Given the description of an element on the screen output the (x, y) to click on. 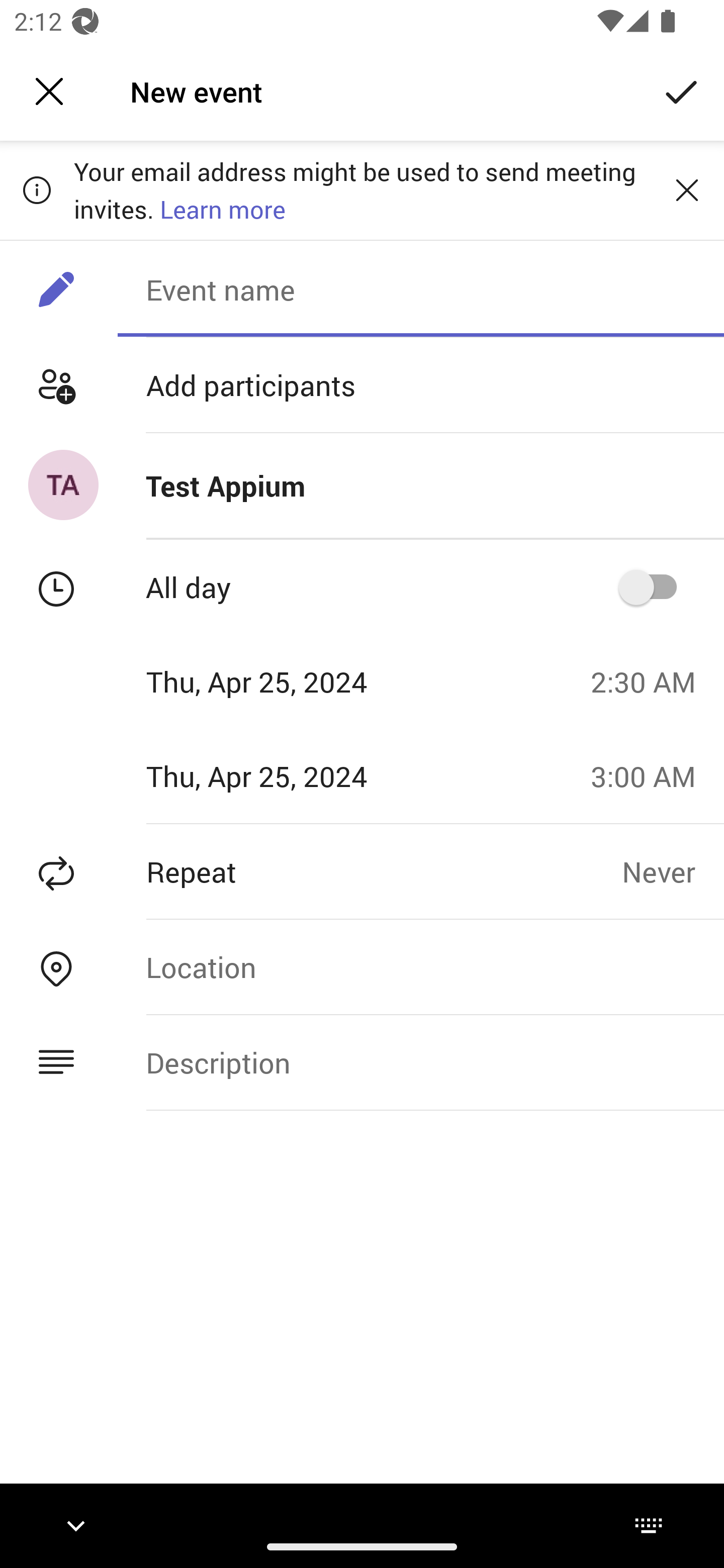
Back (49, 91)
Send invite (681, 90)
Dismiss banner (687, 189)
Event name (420, 289)
Add participants Add participants option (362, 384)
All day (654, 586)
Thu, Apr 25, 2024 Starts Thursday Apr 25, 2024 (288, 681)
2:30 AM Start time 2:30 AM (650, 681)
Thu, Apr 25, 2024 Ends Thursday Apr 25, 2024 (288, 776)
3:00 AM End time 3:00 AM (650, 776)
Repeat (310, 871)
Never Repeat Never (672, 871)
Location (420, 967)
Description (420, 1062)
